Given the description of an element on the screen output the (x, y) to click on. 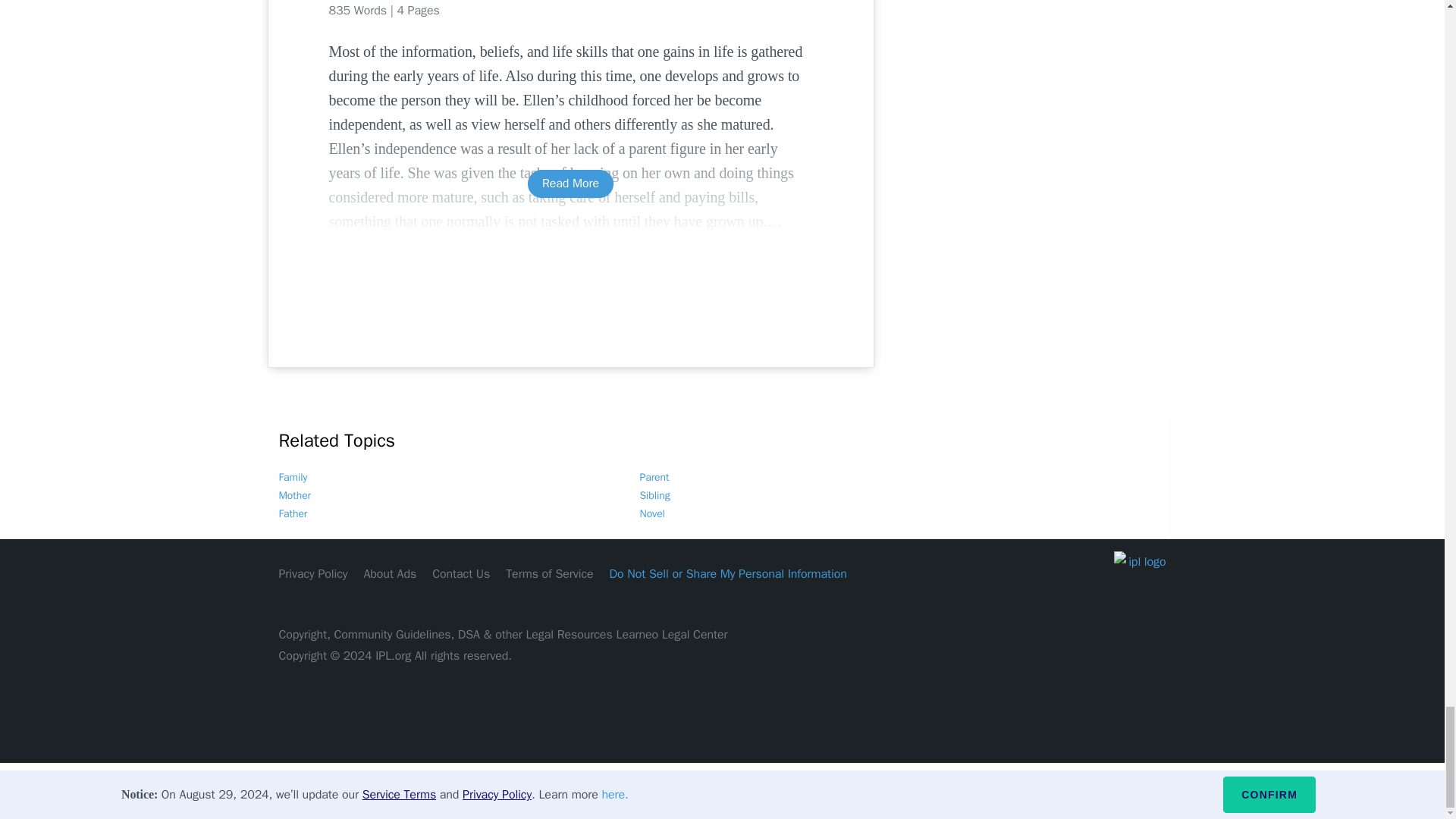
Terms of Service (548, 573)
Contact Us (460, 573)
Parent (654, 477)
Privacy Policy (313, 573)
Sibling (654, 495)
Novel (652, 513)
About Ads (389, 573)
Father (293, 513)
Mother (295, 495)
Family (293, 477)
